Given the description of an element on the screen output the (x, y) to click on. 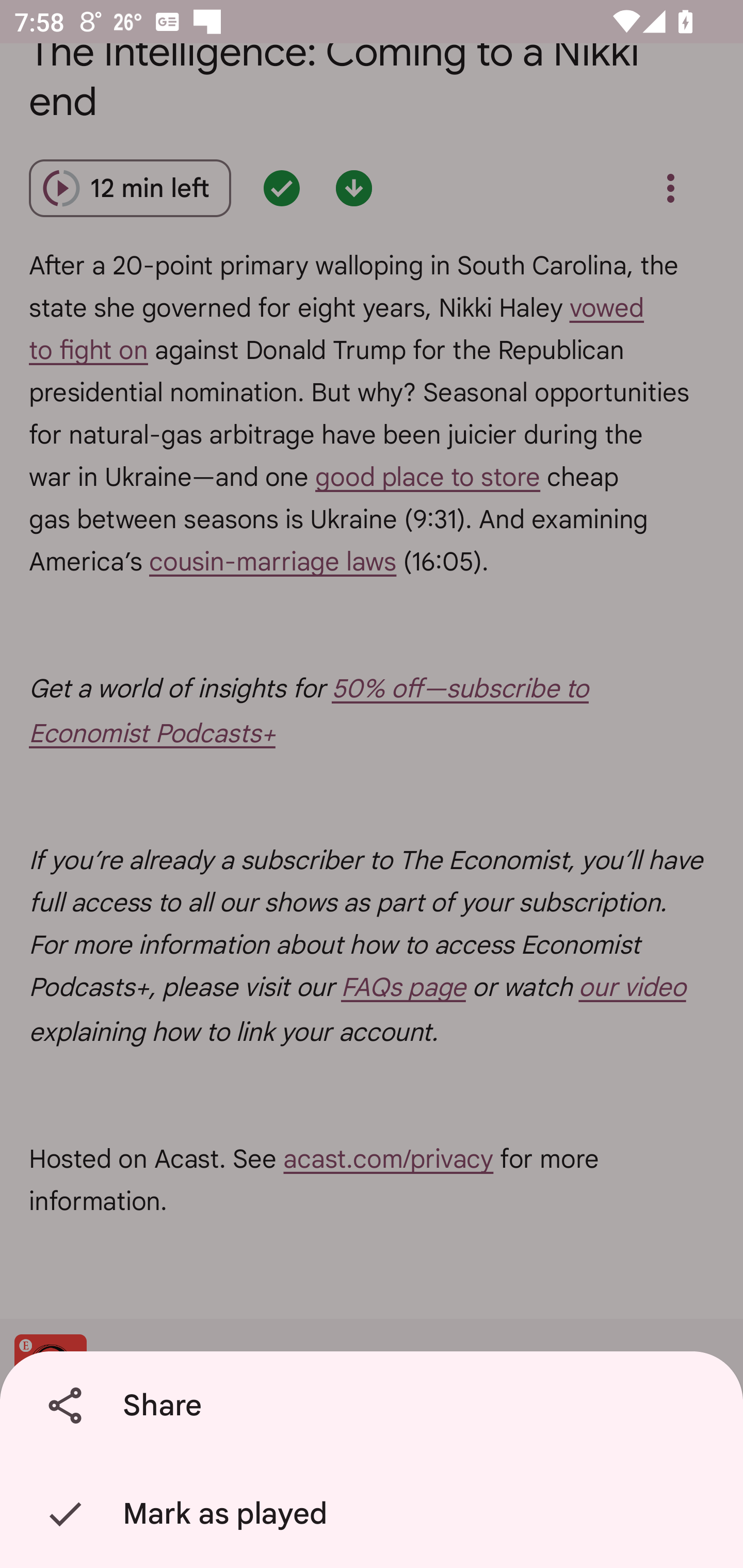
Share (375, 1405)
Mark as played (375, 1513)
